Given the description of an element on the screen output the (x, y) to click on. 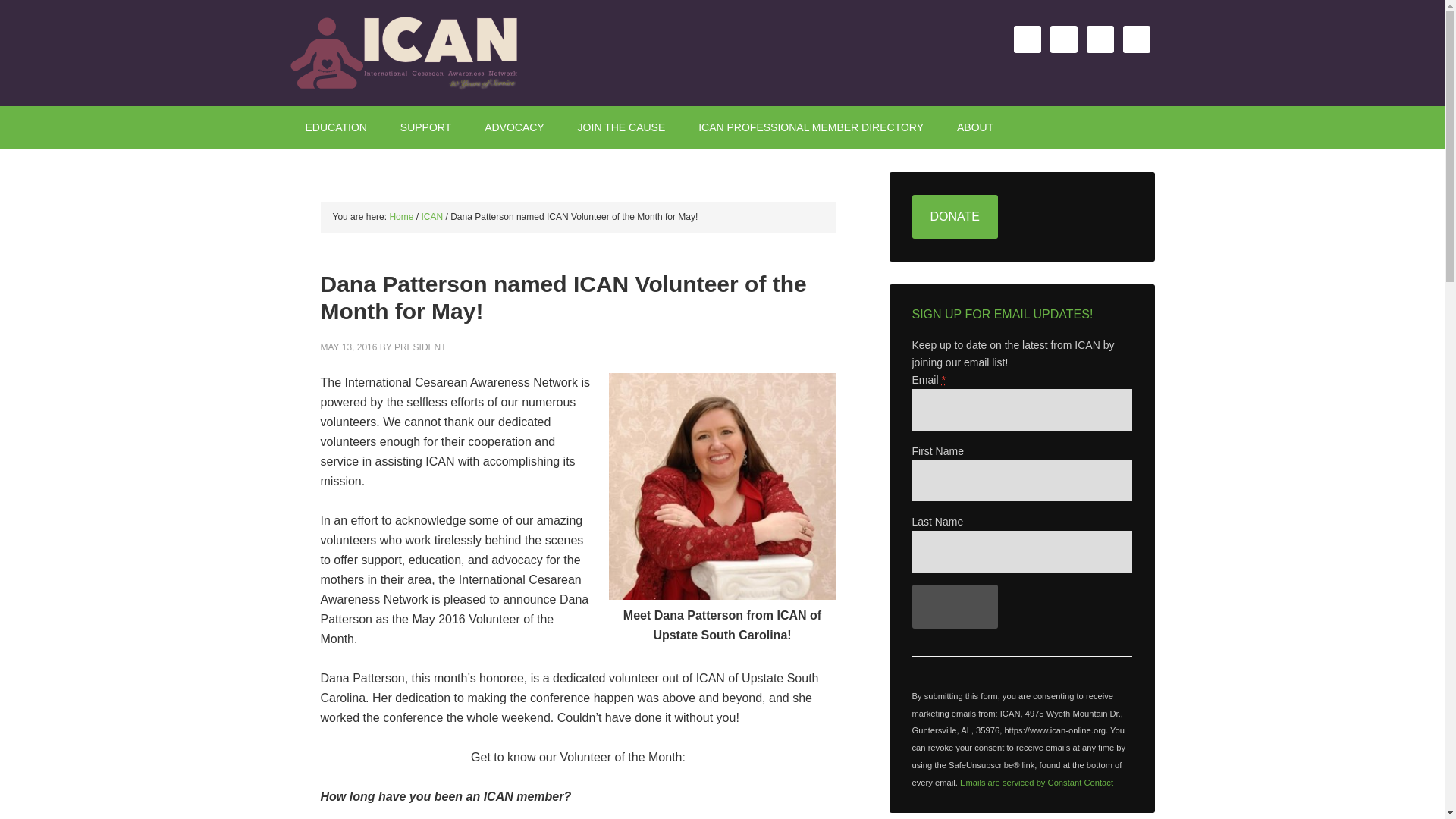
Sign up (954, 606)
INTERNATIONAL CESAREAN AWARENESS NETWORK (418, 52)
SUPPORT (425, 127)
EDUCATION (335, 127)
JOIN THE CAUSE (621, 127)
ADVOCACY (513, 127)
